Given the description of an element on the screen output the (x, y) to click on. 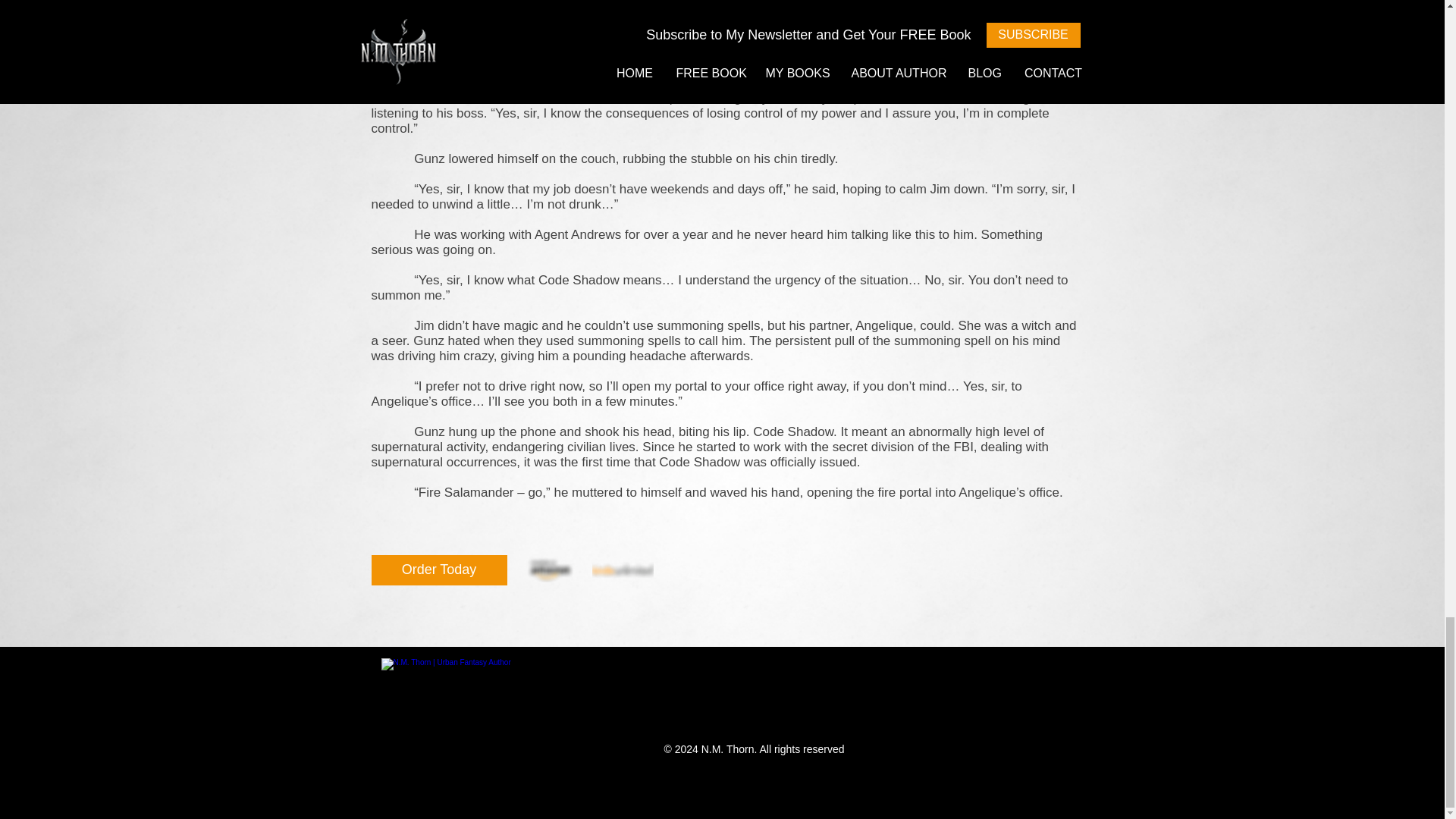
Order Today (438, 570)
